Given the description of an element on the screen output the (x, y) to click on. 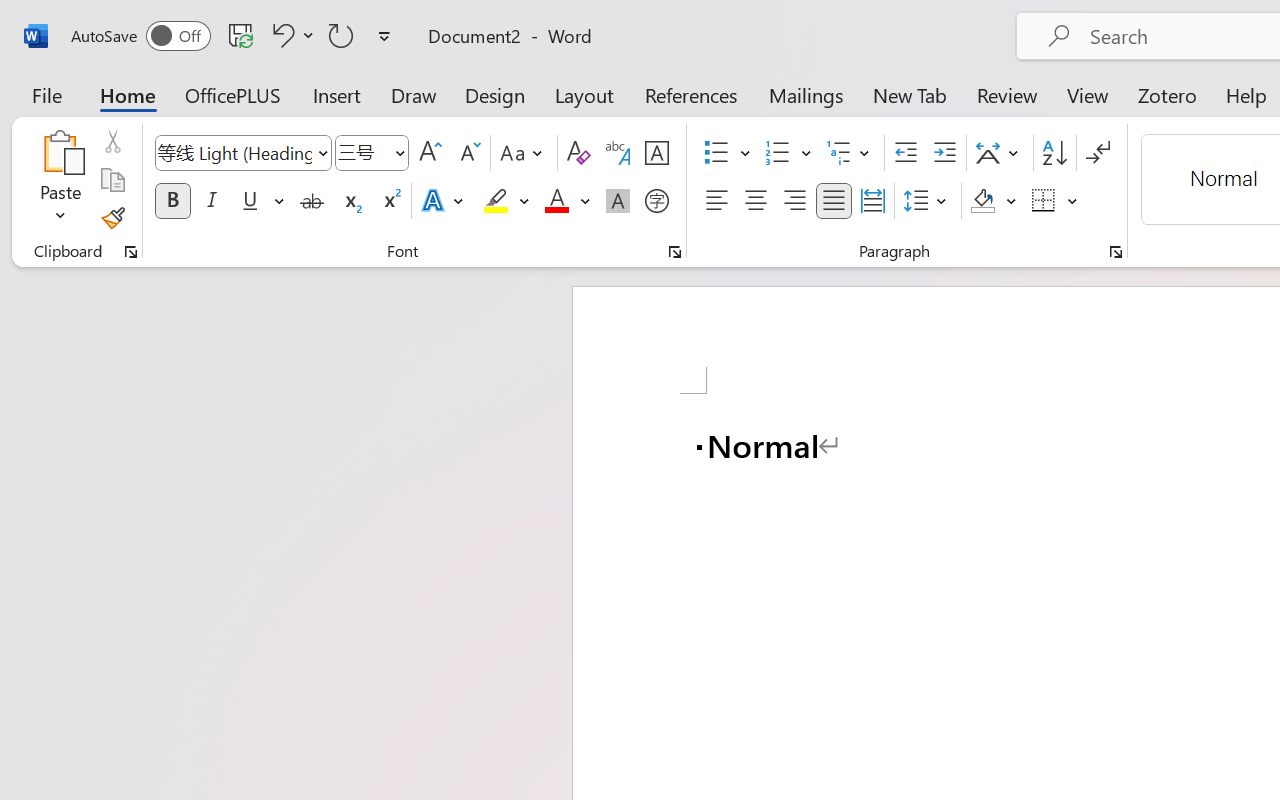
Character Shading (618, 201)
Enclose Characters... (656, 201)
Subscript (350, 201)
Design (495, 94)
Clear Formatting (578, 153)
New Tab (909, 94)
Character Border (656, 153)
Shading RGB(0, 0, 0) (982, 201)
Text Highlight Color Yellow (495, 201)
Font Size (372, 153)
Text Effects and Typography (444, 201)
View (1087, 94)
Font Size (362, 152)
Italic (212, 201)
Bullets (727, 153)
